Given the description of an element on the screen output the (x, y) to click on. 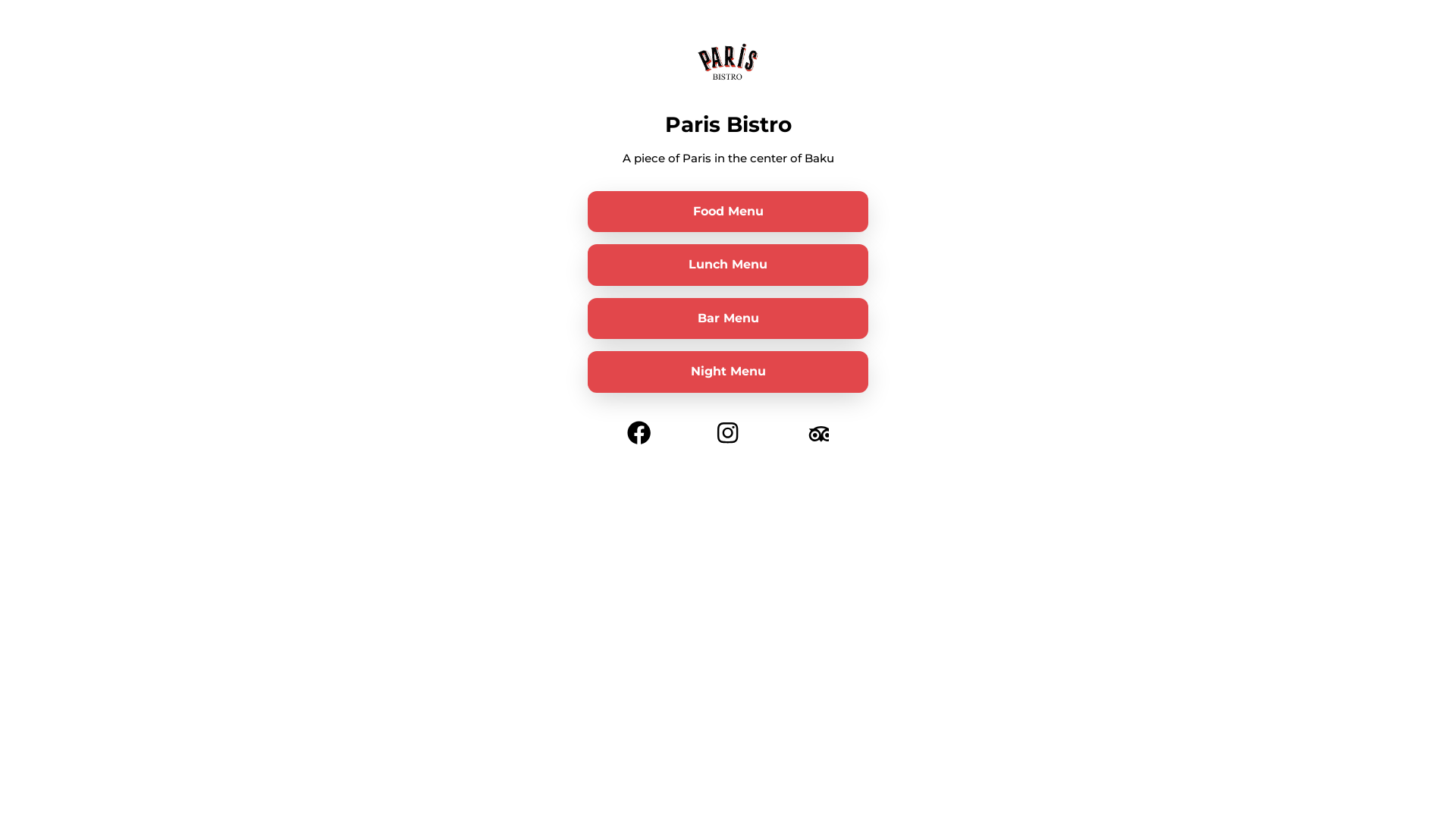
Night Menu Element type: text (727, 371)
Bar Menu Element type: text (727, 318)
Food Menu Element type: text (727, 211)
instagram Element type: text (816, 428)
Paris Bistro  Element type: hover (727, 62)
facebook Element type: text (638, 428)
instagram Element type: text (727, 428)
Lunch Menu Element type: text (727, 264)
